Given the description of an element on the screen output the (x, y) to click on. 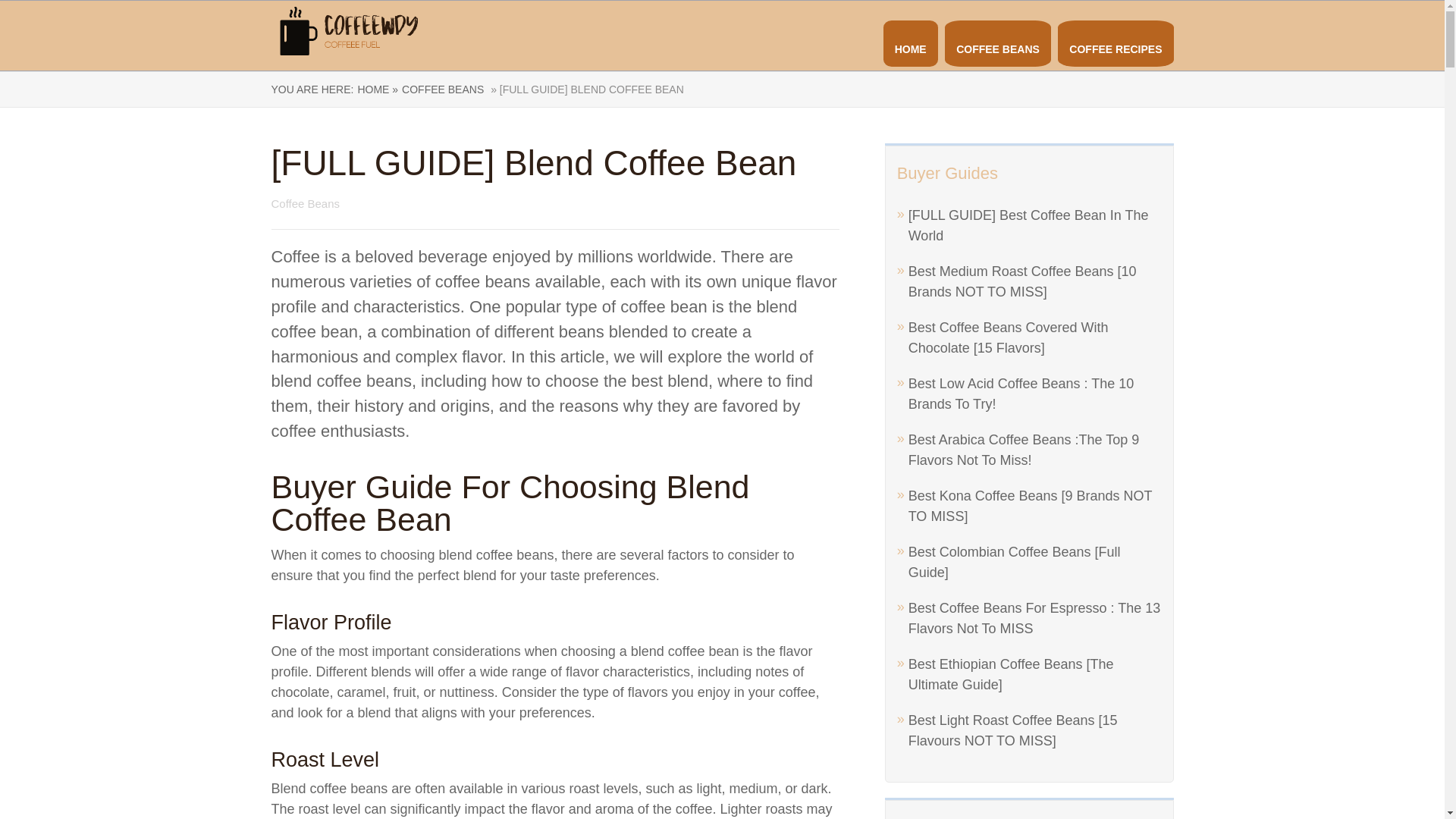
Coffee Beans (305, 203)
Best Coffee Beans For Espresso : The 13 Flavors Not To MISS (1034, 618)
HOME (910, 49)
Best Arabica Coffee Beans :The Top 9 Flavors Not To Miss! (1024, 449)
COFFEE BEANS (442, 89)
Best Low Acid Coffee Beans : The 10 Brands To Try! (1021, 393)
COFFEE RECIPES (1114, 49)
COFFEE BEANS (997, 49)
